Given the description of an element on the screen output the (x, y) to click on. 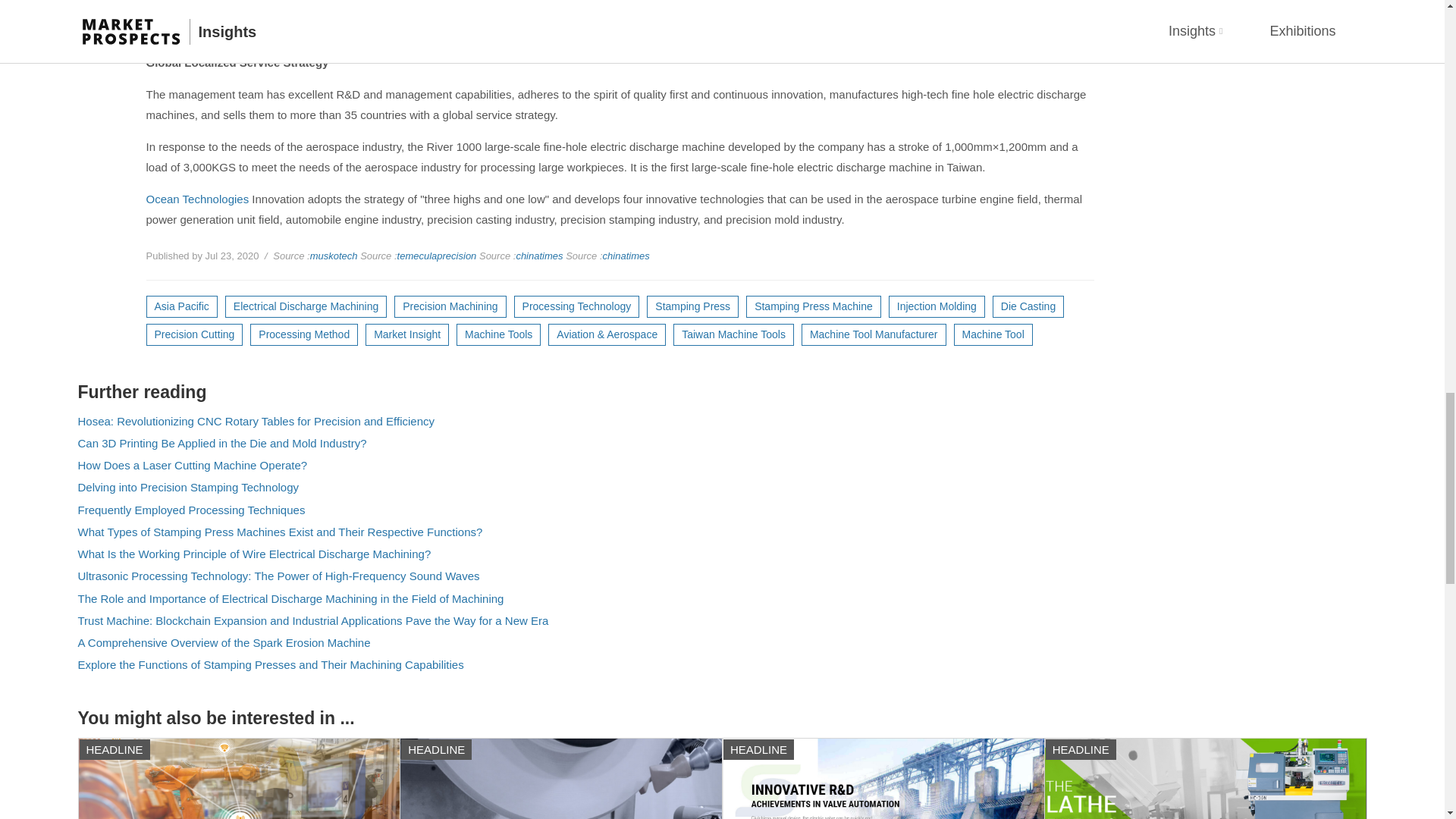
chinatimes (625, 255)
muskotech (334, 255)
Injection Molding (936, 306)
Stamping Press Machine (812, 306)
temeculaprecision (437, 255)
Taiwan Machine Tools (732, 334)
Asia Pacific (180, 306)
Precision Machining (449, 306)
Machine Tools (498, 334)
chinatimes (538, 255)
Machine Tool Manufacturer (874, 334)
Ocean Technologies (196, 198)
Market Insight (406, 334)
Stamping Press (692, 306)
Precision Cutting (194, 334)
